Given the description of an element on the screen output the (x, y) to click on. 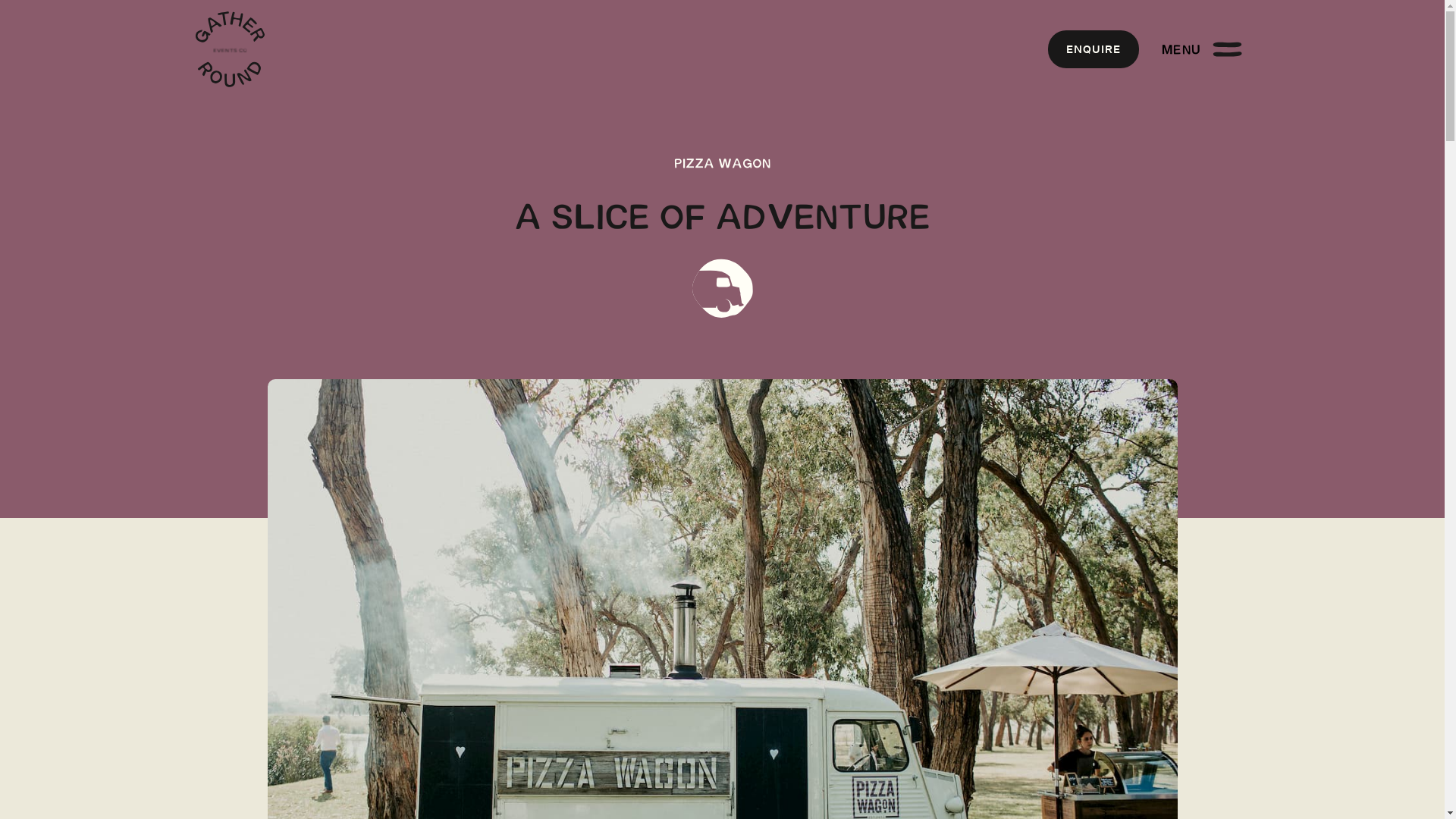
ENQUIRE Element type: text (1093, 49)
